Given the description of an element on the screen output the (x, y) to click on. 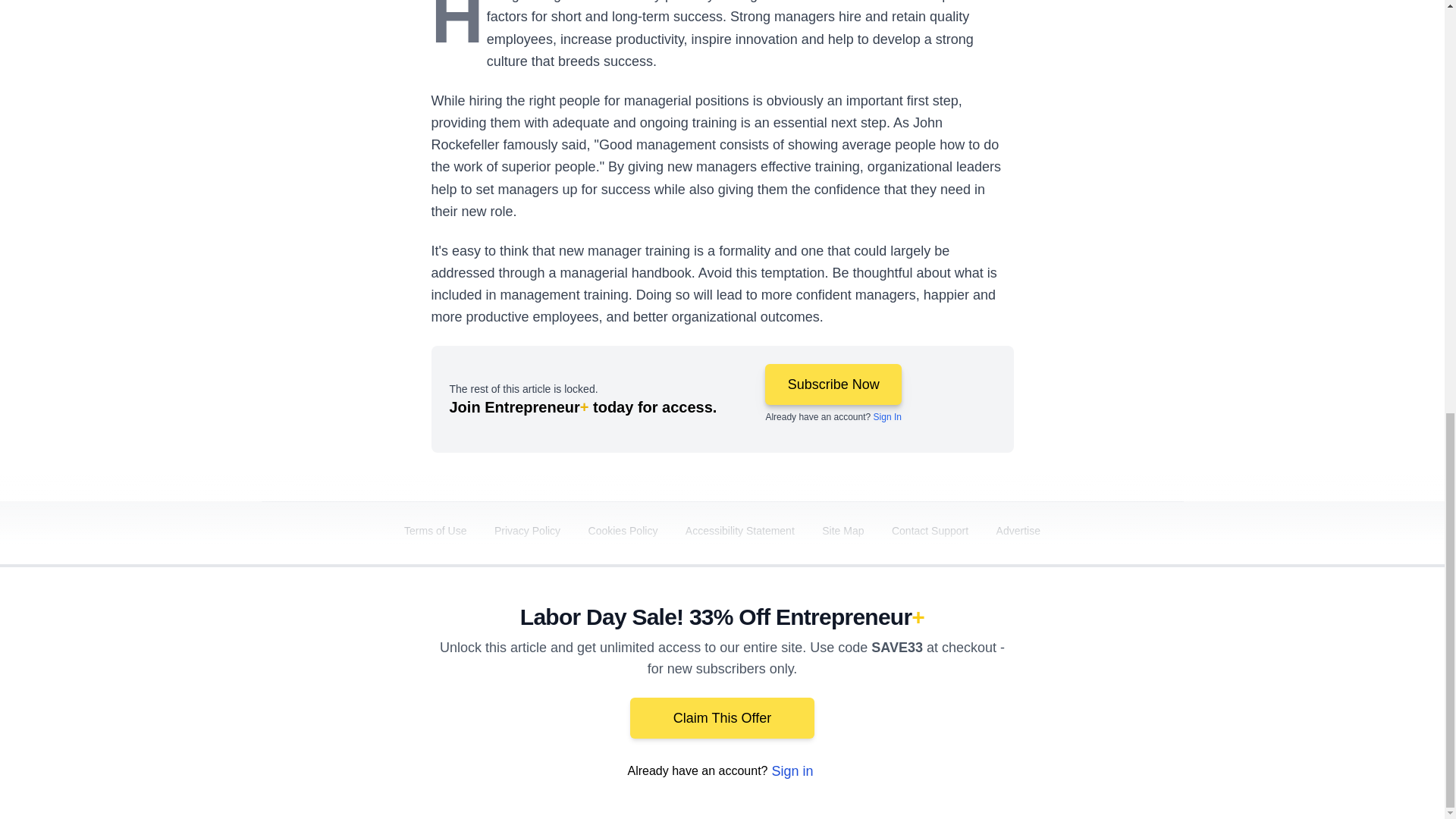
facebook (866, 691)
linkedin (952, 691)
snapchat (1121, 691)
tiktok (1079, 691)
twitter (909, 691)
rss (1164, 691)
youtube (994, 691)
instagram (1037, 691)
